Given the description of an element on the screen output the (x, y) to click on. 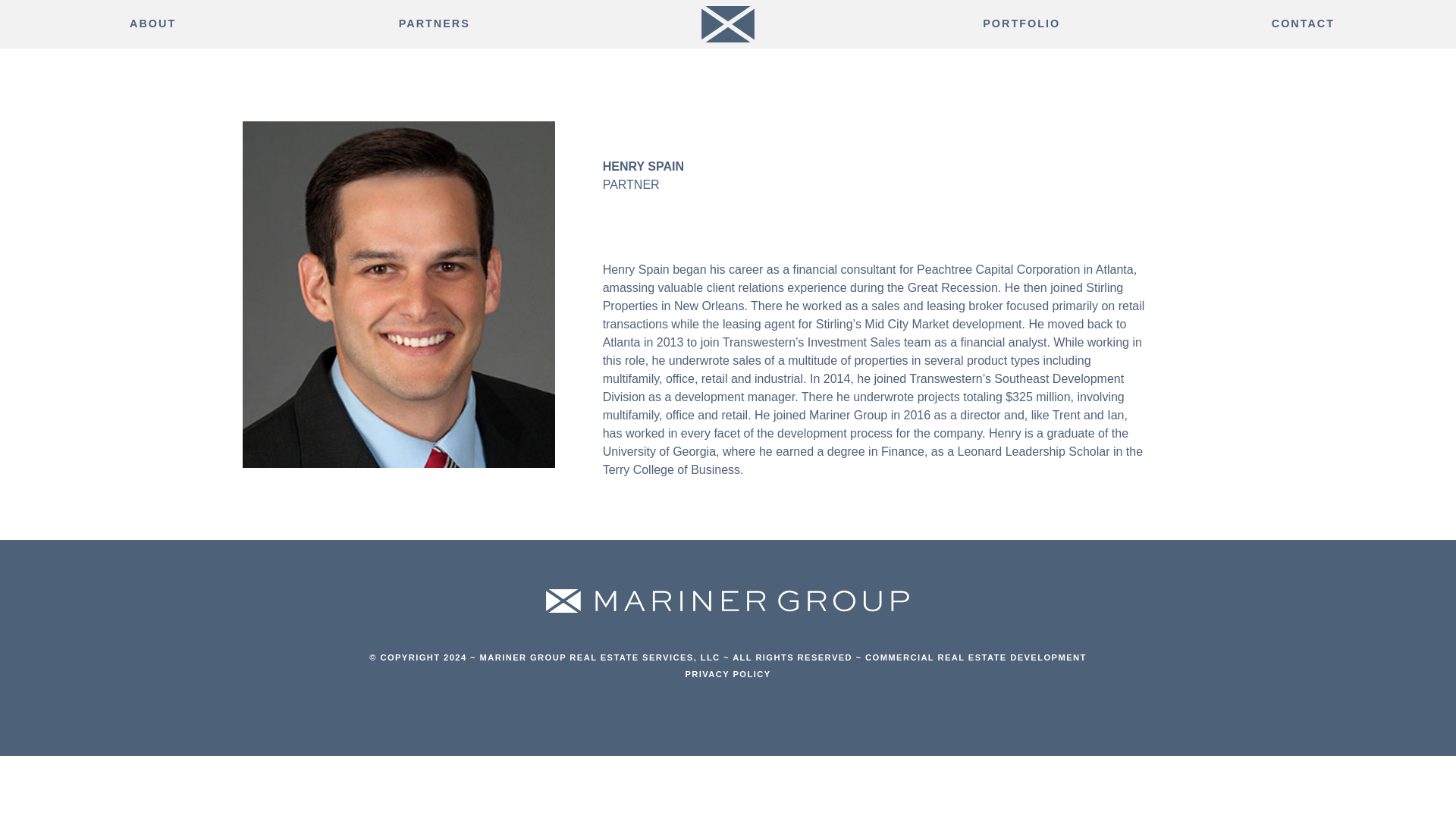
Mariner Group (727, 600)
PARTNERS (434, 23)
ABOUT (152, 23)
CONTACT (1302, 23)
HOME (726, 27)
PORTFOLIO (1020, 23)
PRIVACY POLICY (727, 673)
